Given the description of an element on the screen output the (x, y) to click on. 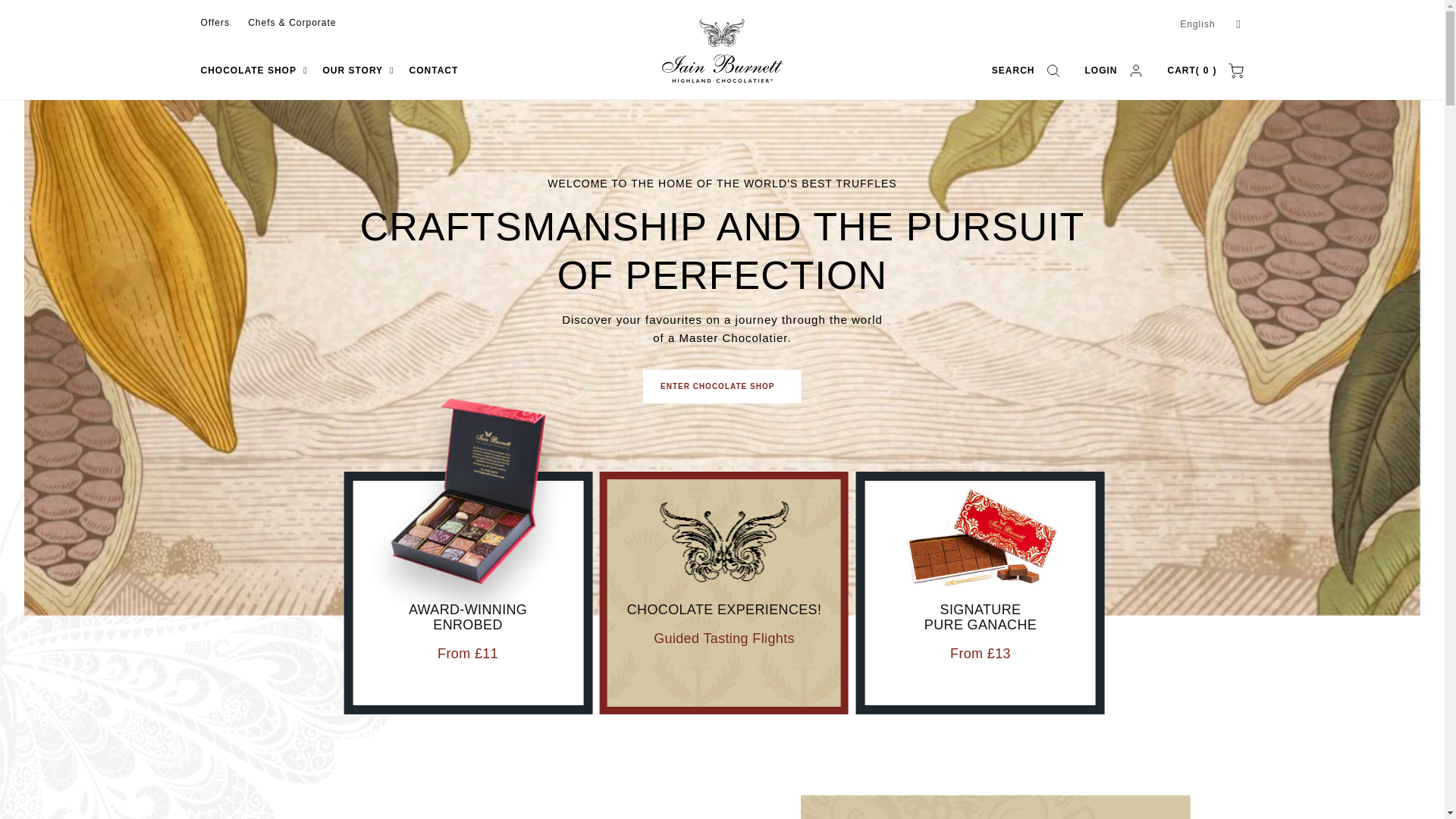
Highland Chocolatier (722, 51)
Search (1026, 70)
My Account  (1114, 70)
